Given the description of an element on the screen output the (x, y) to click on. 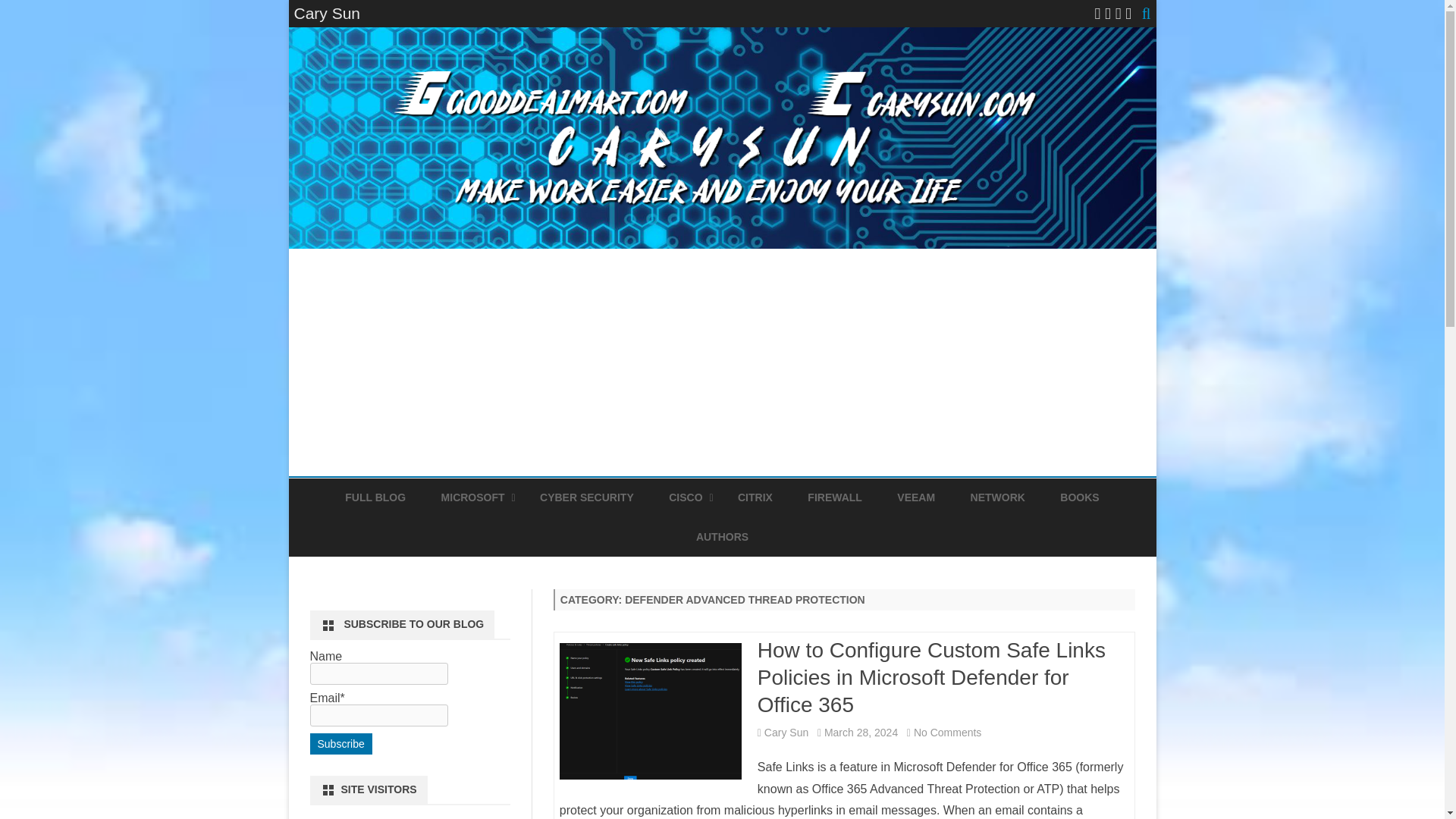
Subscribe (339, 743)
MICROSOFT (473, 497)
AZURE (516, 532)
CYBER SECURITY (586, 497)
FULL BLOG (375, 497)
